Given the description of an element on the screen output the (x, y) to click on. 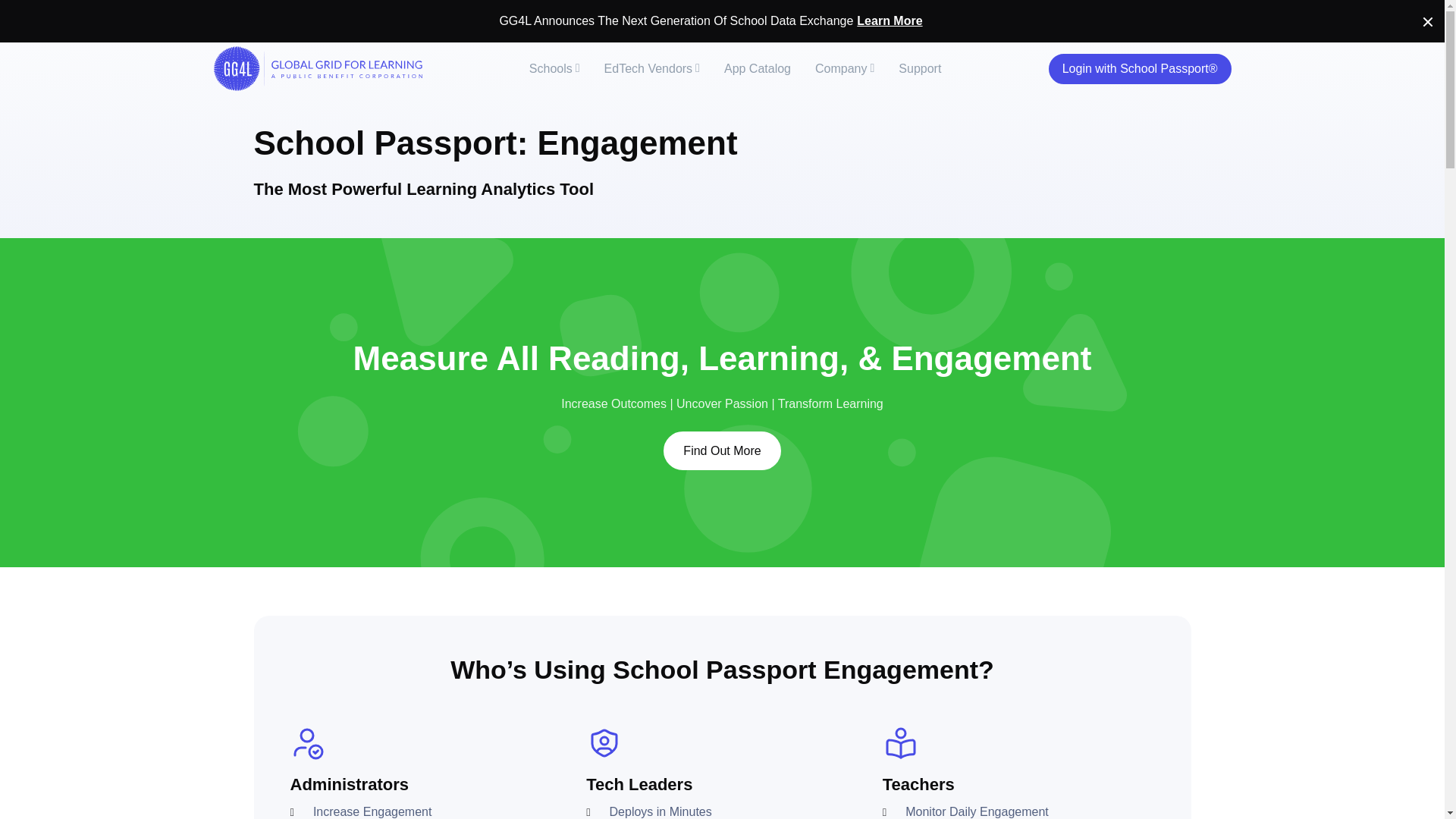
App Catalog (757, 68)
Company (844, 68)
Learn More (889, 21)
Schools (554, 68)
Learn More (889, 21)
EdTech Vendors (651, 68)
